Given the description of an element on the screen output the (x, y) to click on. 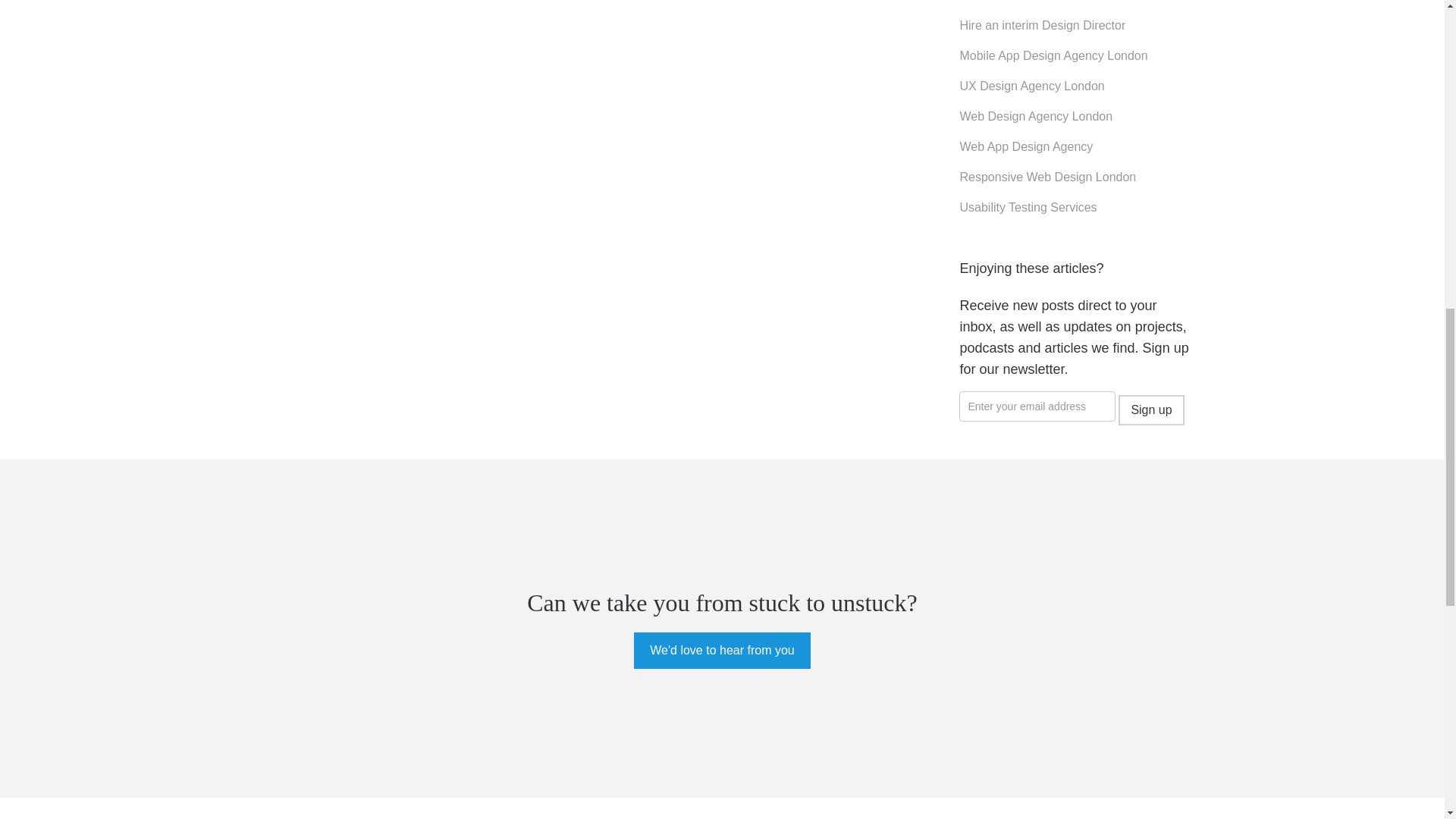
Web App Design Agency (1026, 146)
UX Design Agency London (1031, 86)
Hire an interim UX Director (1031, 1)
Usability Testing Services (1027, 207)
Web Design Agency London (1035, 116)
Mobile App Design Agency London (1053, 55)
Hire an interim Design Director (1042, 25)
Sign up (1150, 409)
Sign up (1150, 409)
We'd love to hear from you (721, 650)
Responsive Web Design London (1047, 177)
